Given the description of an element on the screen output the (x, y) to click on. 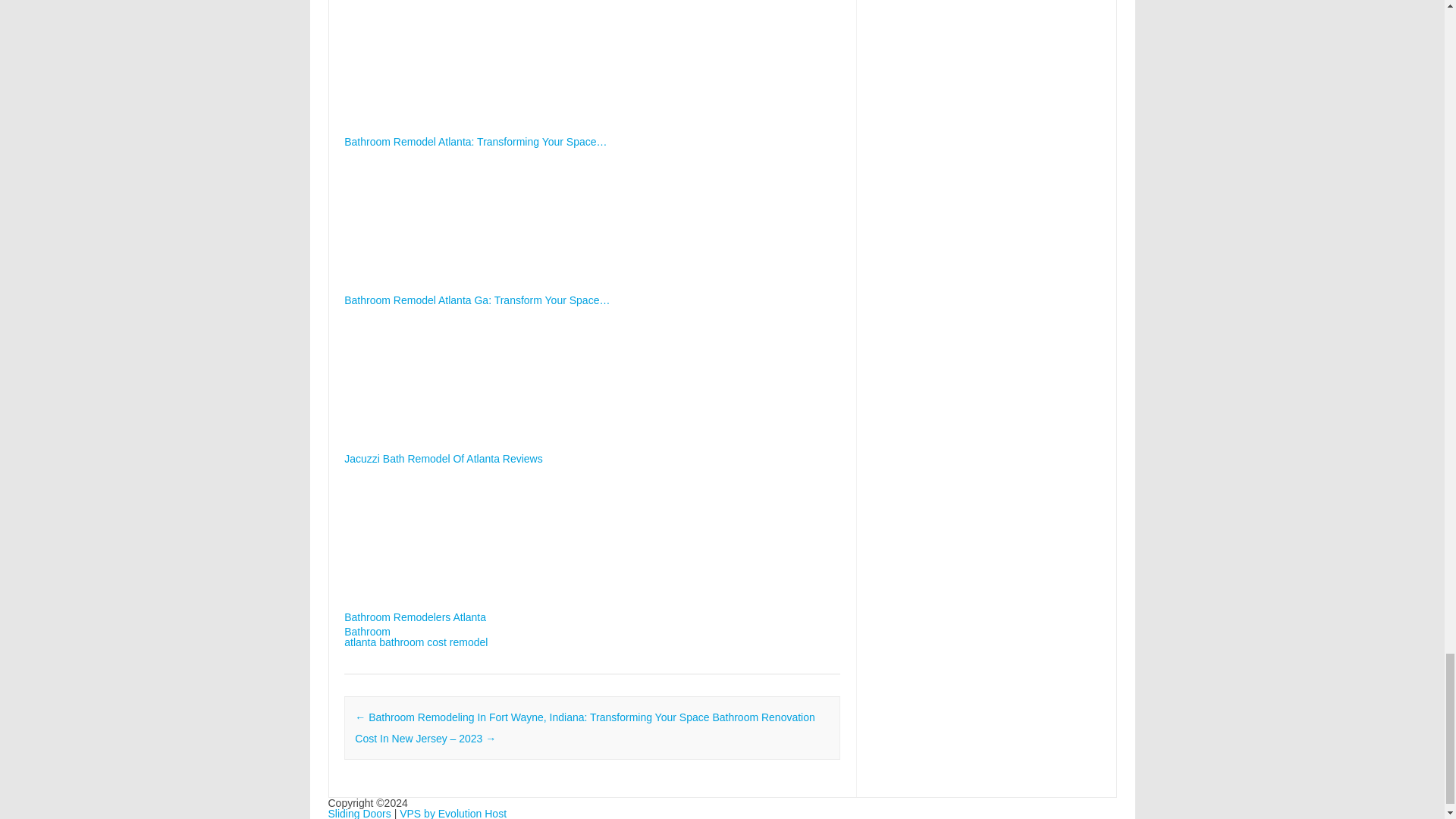
Bathroom Remodelers Atlanta (591, 550)
atlanta (359, 642)
Jacuzzi Bath Remodel Of Atlanta Reviews (591, 392)
cost (436, 642)
Bathroom (366, 631)
remodel (468, 642)
bathroom (400, 642)
